Given the description of an element on the screen output the (x, y) to click on. 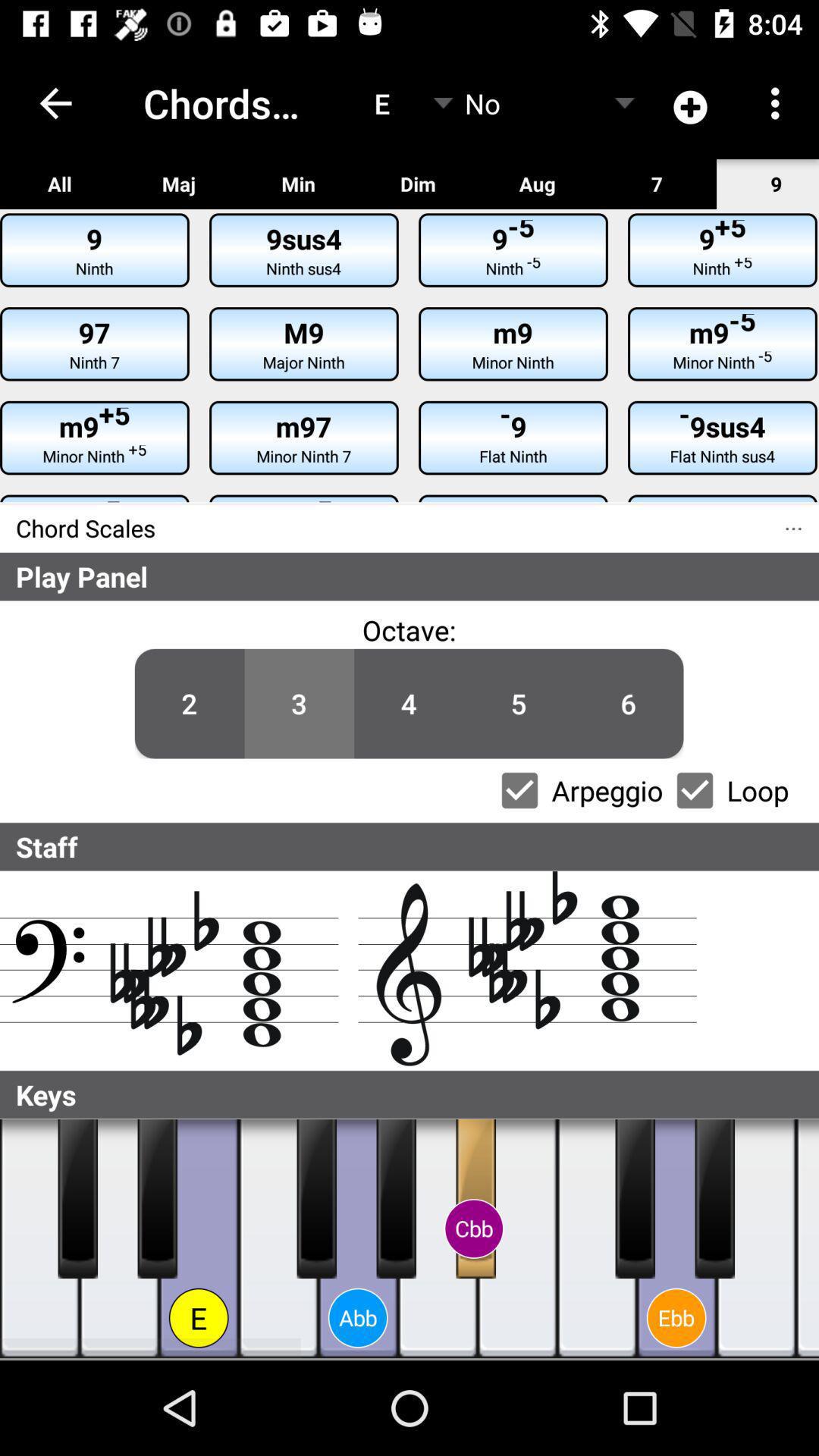
arpeggio (519, 790)
